Given the description of an element on the screen output the (x, y) to click on. 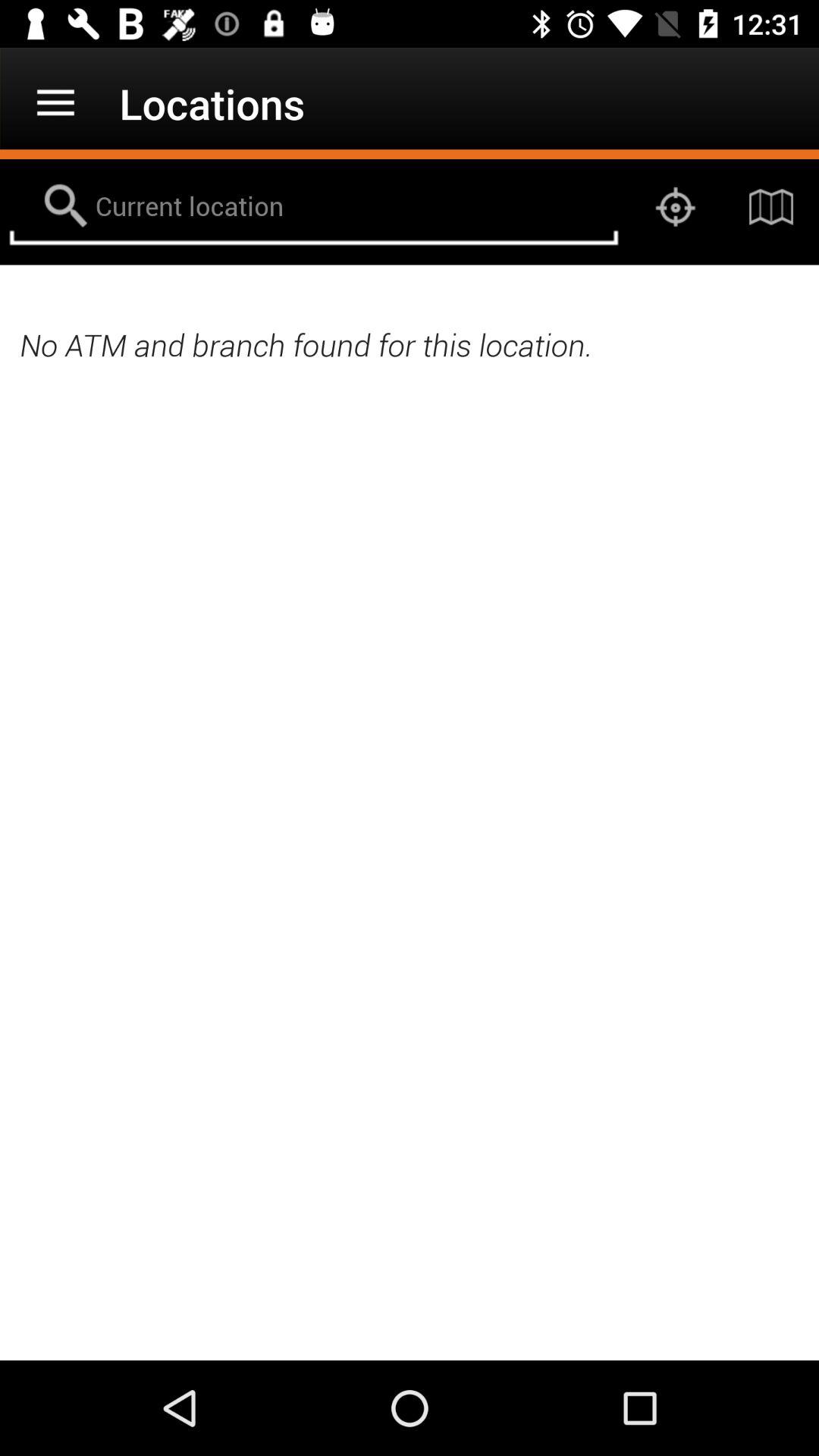
turn off app to the left of the locations icon (55, 103)
